Given the description of an element on the screen output the (x, y) to click on. 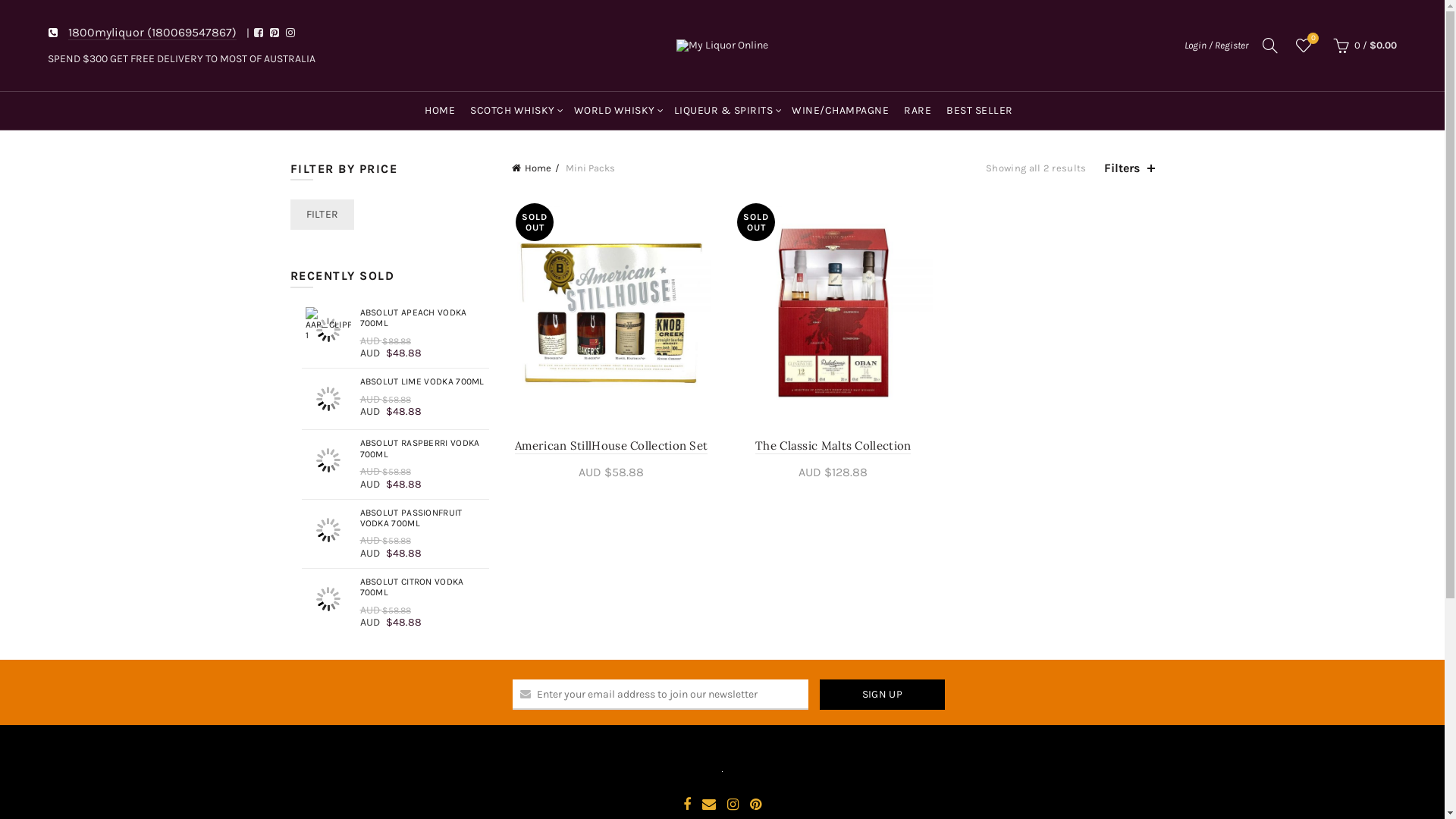
ABSOLUT LIME VODKA 700ML Element type: text (396, 381)
0 / $0.00 Element type: text (1362, 45)
ABSOLUT APEACH VODKA 700ML Element type: text (396, 318)
RARE Element type: text (918, 110)
Login / Register Element type: text (1216, 44)
WINE/CHAMPAGNE Element type: text (841, 110)
WORLD WHISKY Element type: text (615, 110)
Sign up Element type: text (881, 694)
BEST SELLER Element type: text (980, 110)
Home Element type: text (535, 167)
HOME Element type: text (440, 110)
LIQUEUR & SPIRITS Element type: text (724, 110)
ABSOLUT RASPBERRI VODKA 700ML Element type: text (396, 448)
SOLD OUT Element type: text (610, 312)
SOLD OUT Element type: text (832, 312)
FILTER Element type: text (321, 214)
SCOTCH WHISKY Element type: text (513, 110)
Wishlist
0 Element type: text (1303, 45)
ABSOLUT CITRON VODKA 700ML Element type: text (396, 587)
American StillHouse Collection Set Element type: text (610, 446)
The Classic Malts Collection Element type: text (832, 446)
Filters Element type: text (1129, 167)
Search Element type: text (30, 45)
ABSOLUT PASSIONFRUIT VODKA 700ML Element type: text (396, 518)
